Given the description of an element on the screen output the (x, y) to click on. 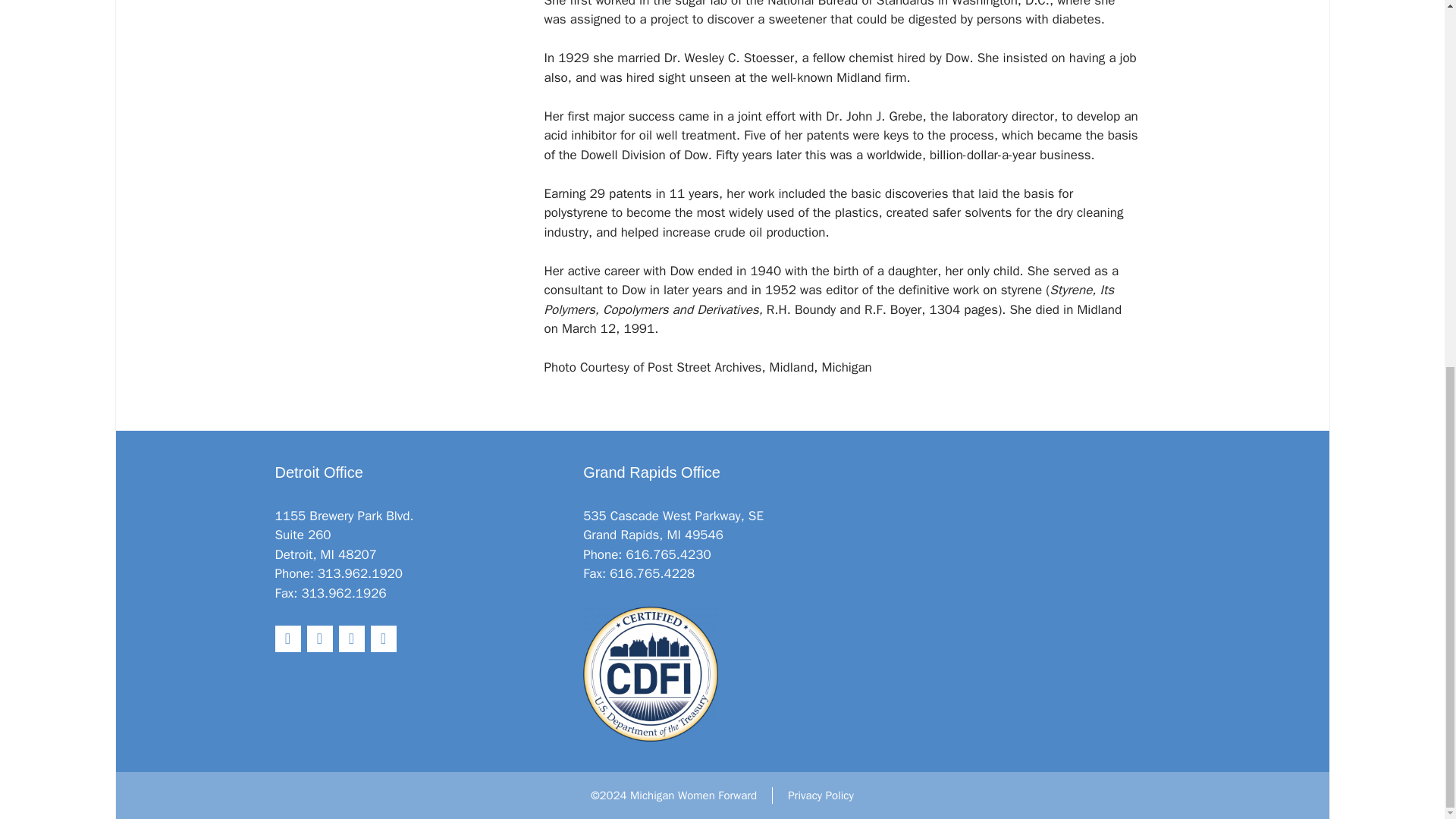
Facebook (318, 638)
LinkedIn (350, 638)
Twitter (287, 638)
Privacy Policy (820, 795)
Instagram (382, 638)
